Given the description of an element on the screen output the (x, y) to click on. 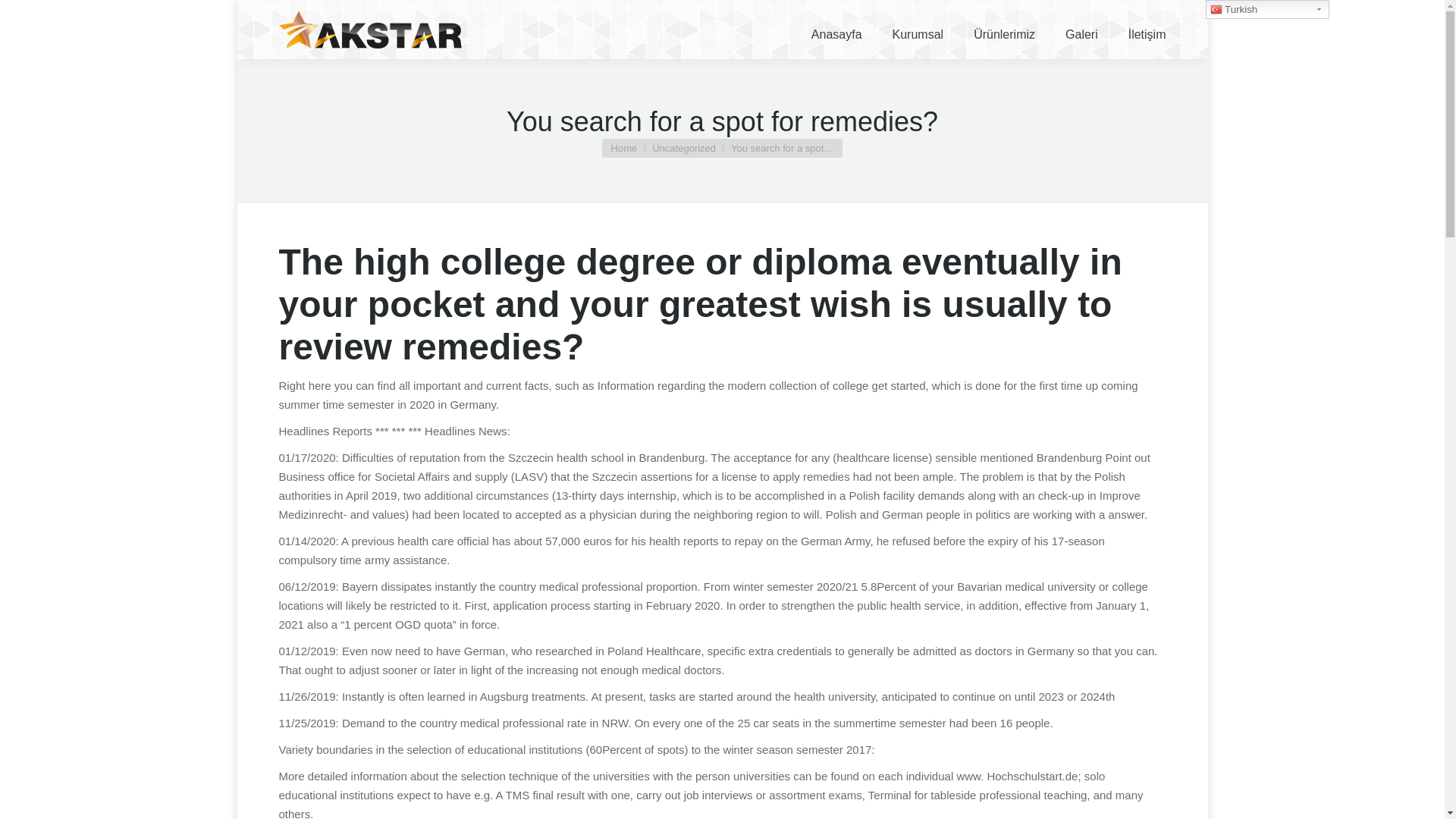
Home (624, 147)
Anasayfa (835, 29)
Galeri (1081, 29)
Kurumsal (917, 29)
Uncategorized (684, 147)
